Given the description of an element on the screen output the (x, y) to click on. 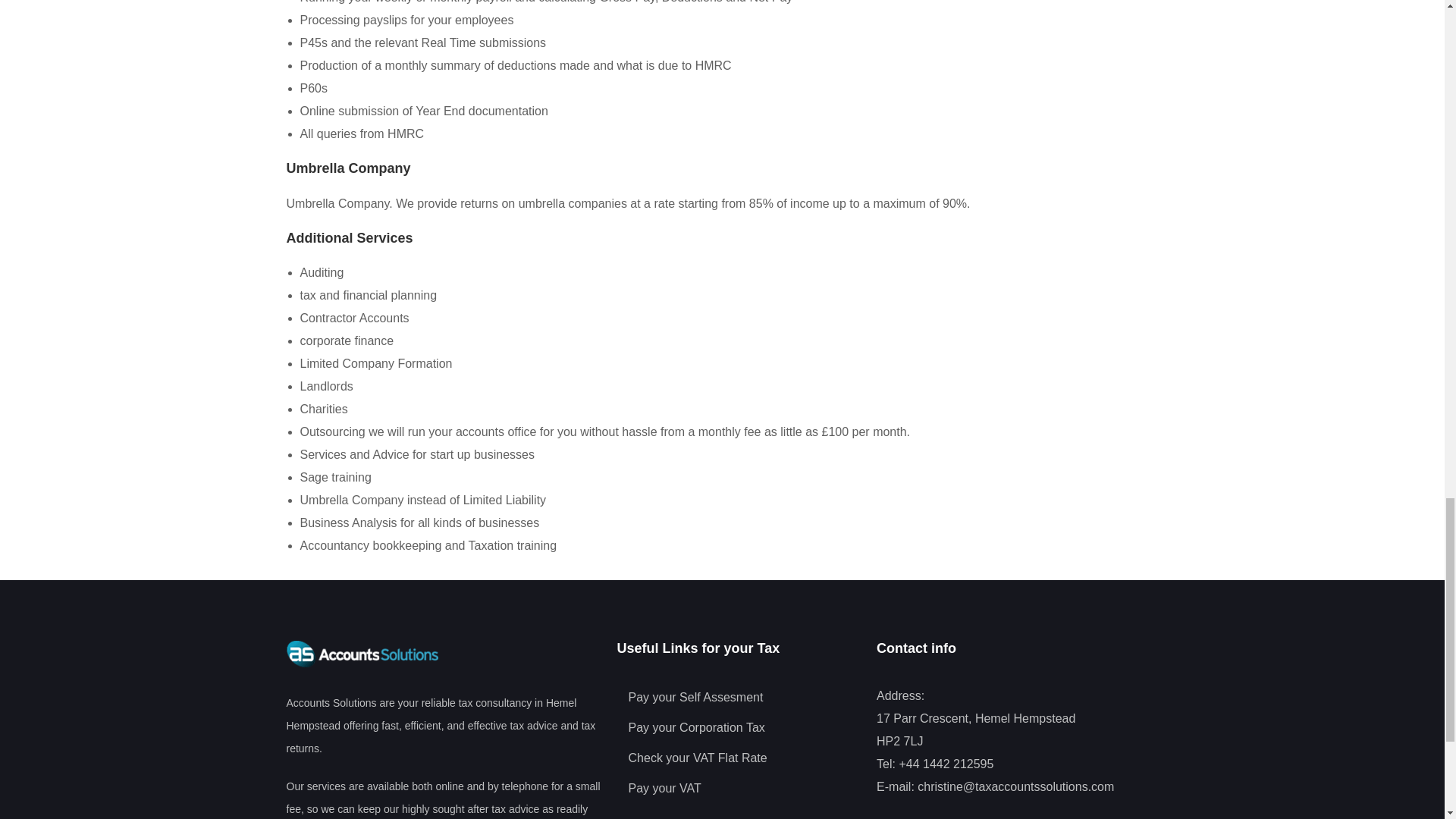
Pay your VAT (739, 788)
Check your VAT Flat Rate (739, 757)
Pay your Corporation Tax (739, 727)
Pay your Self Assesment (739, 697)
